Given the description of an element on the screen output the (x, y) to click on. 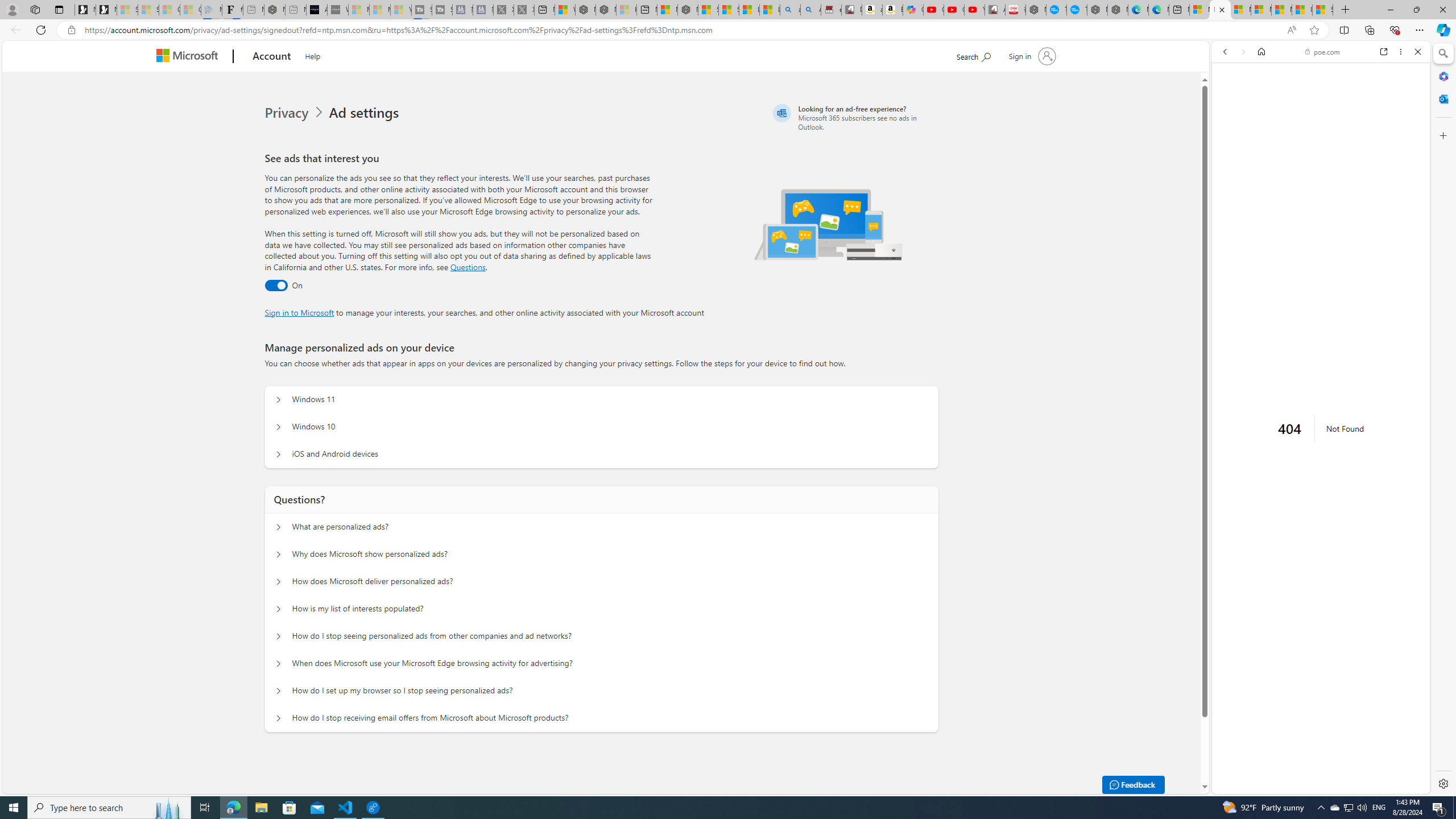
Privacy (287, 112)
Go to Questions section (467, 266)
Customize (1442, 135)
Forward (1242, 51)
Gloom - YouTube (954, 9)
This site scope (1259, 102)
